Given the description of an element on the screen output the (x, y) to click on. 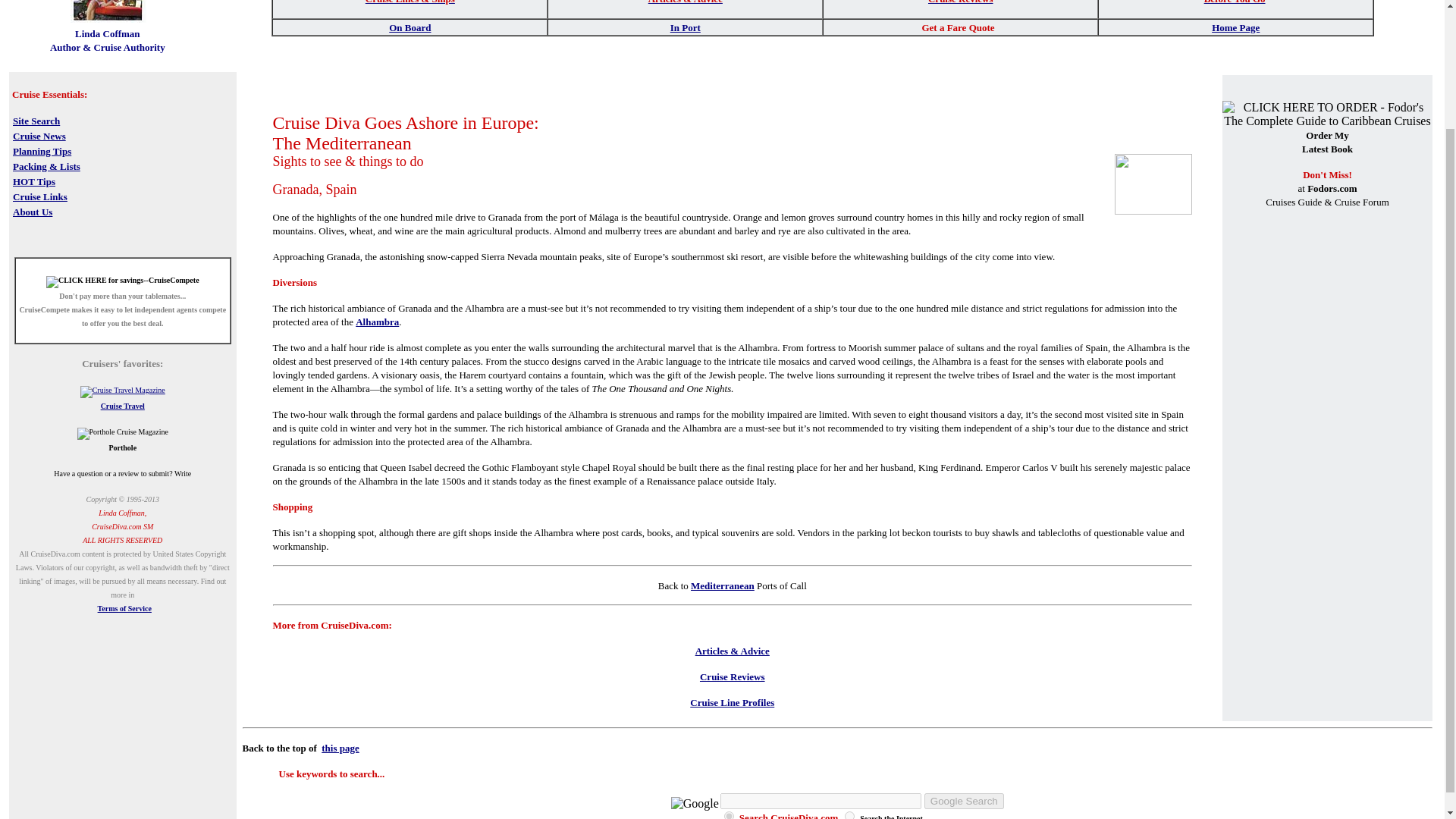
Mediterranean (722, 585)
On Board (409, 25)
Home Page (1235, 26)
About Us (32, 210)
Cruise Travel (122, 406)
Cruise News (39, 134)
HOT Tips (34, 180)
this page (339, 747)
Google Search (964, 801)
Alhambra (376, 321)
Cruise Line Profiles (732, 702)
Planning Tips (42, 150)
Cruise Links (39, 195)
Before You Go (1234, 2)
In Port (684, 25)
